Given the description of an element on the screen output the (x, y) to click on. 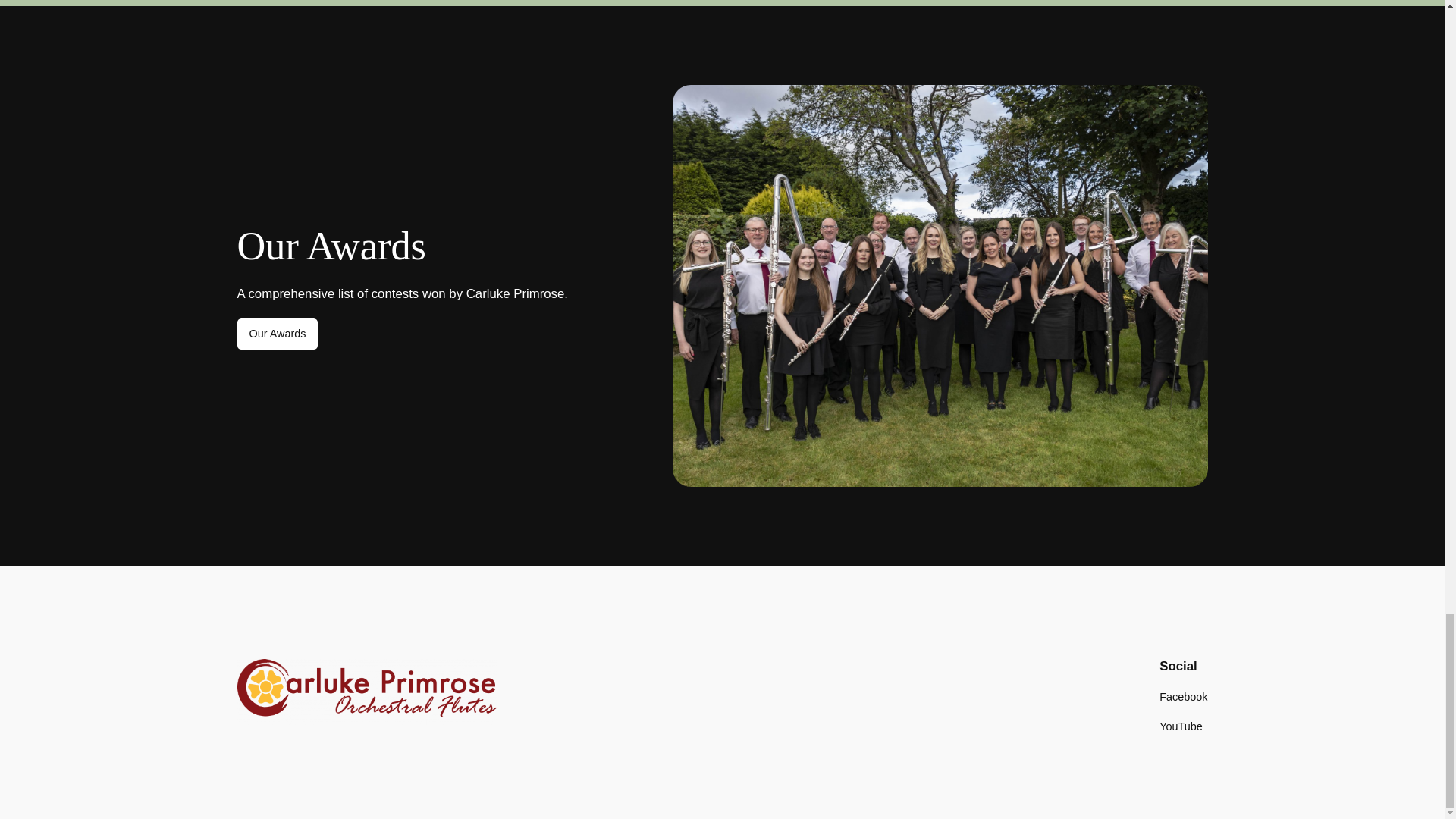
Facebook (1182, 696)
YouTube (1180, 726)
Our Awards (276, 334)
